Given the description of an element on the screen output the (x, y) to click on. 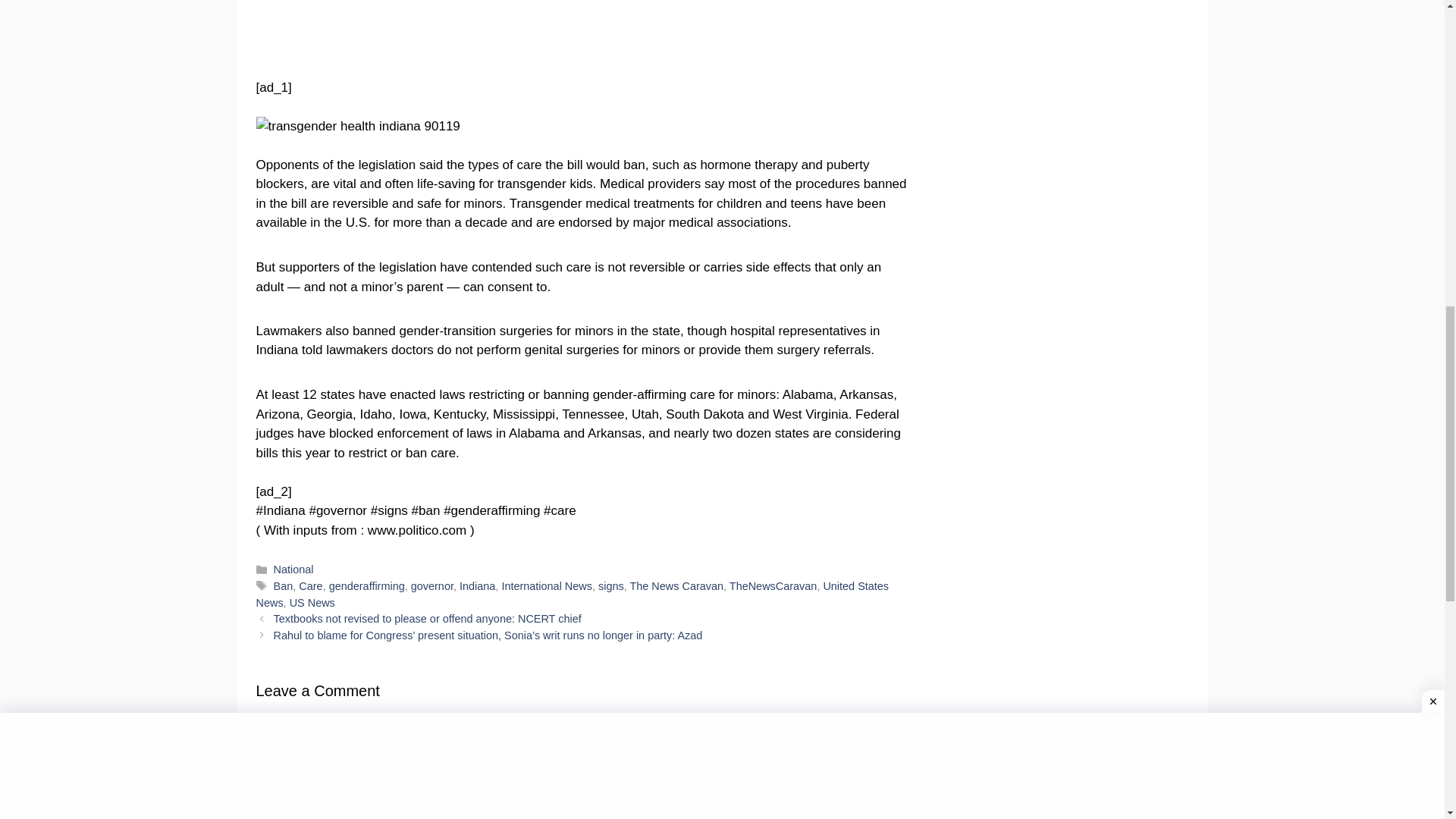
United States News (572, 594)
governor (431, 585)
Care (309, 585)
US News (311, 603)
National (293, 569)
TheNewsCaravan (772, 585)
genderaffirming (366, 585)
signs (611, 585)
Indiana (477, 585)
Scroll back to top (1406, 720)
Ban (283, 585)
The News Caravan (675, 585)
Advertisement (583, 36)
International News (546, 585)
